Given the description of an element on the screen output the (x, y) to click on. 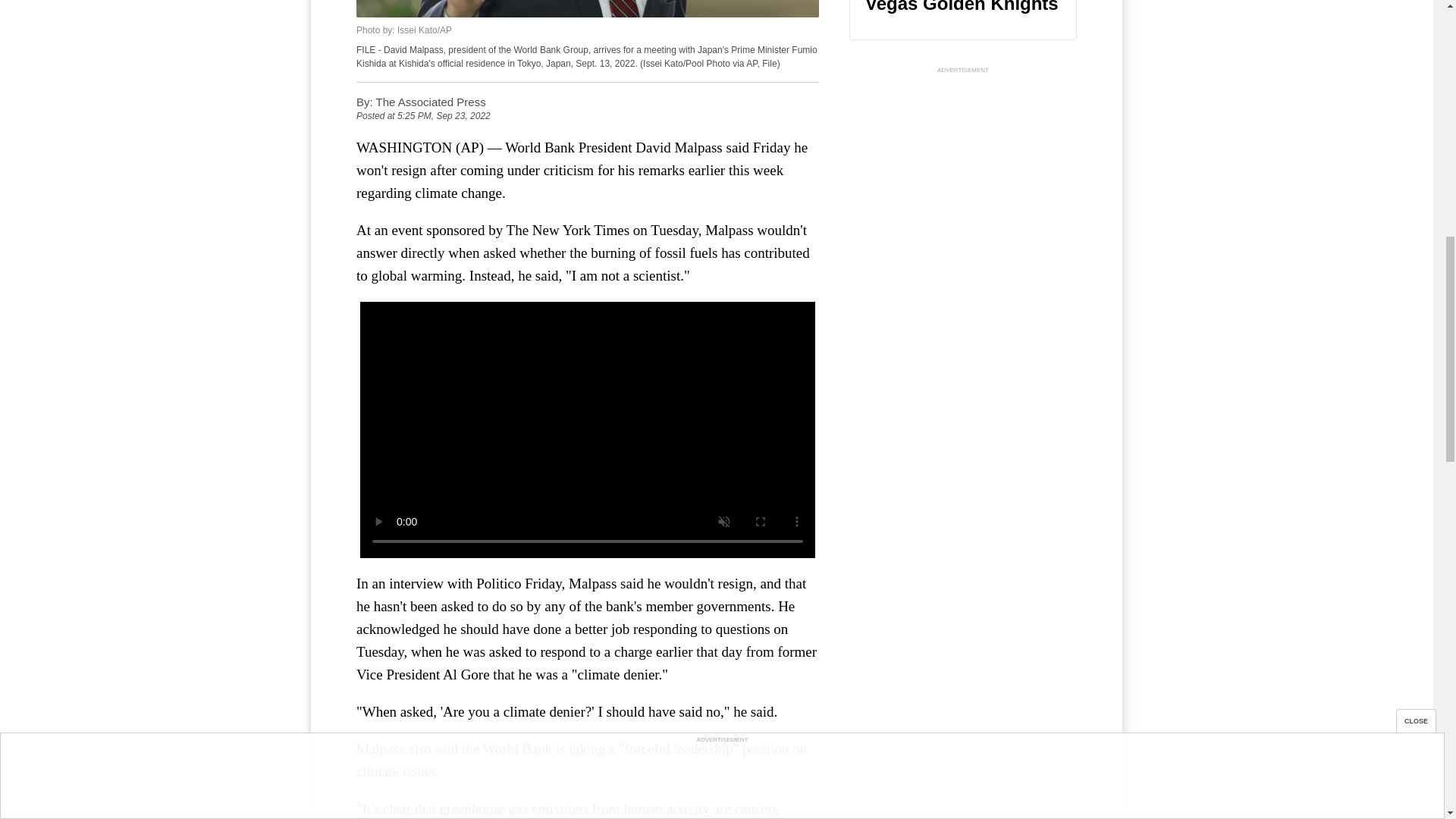
3rd party ad content (962, 171)
